Given the description of an element on the screen output the (x, y) to click on. 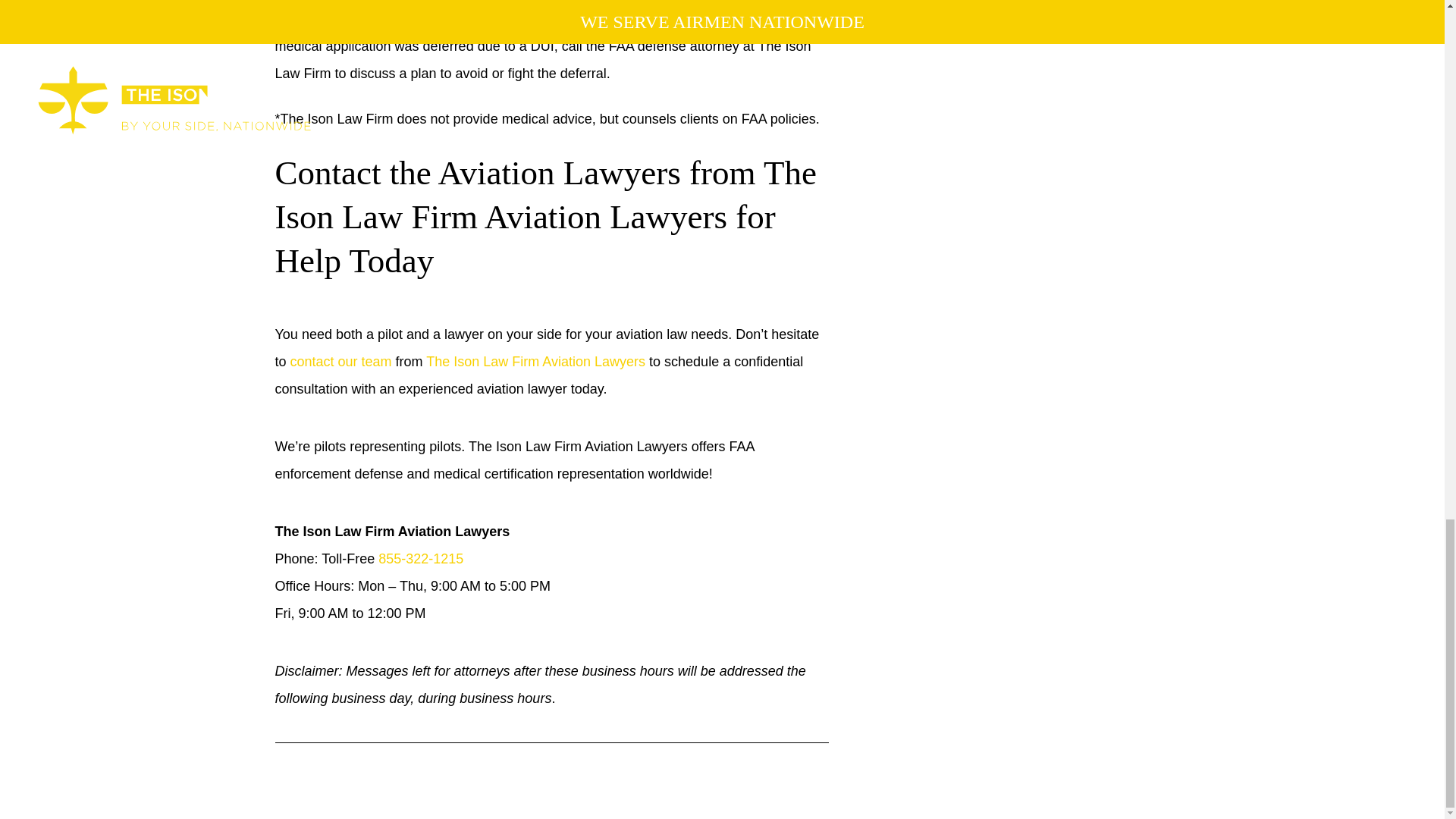
855-322-1215 (420, 558)
The Ison Law Firm Aviation Lawyers (535, 361)
contact our team (340, 361)
